Given the description of an element on the screen output the (x, y) to click on. 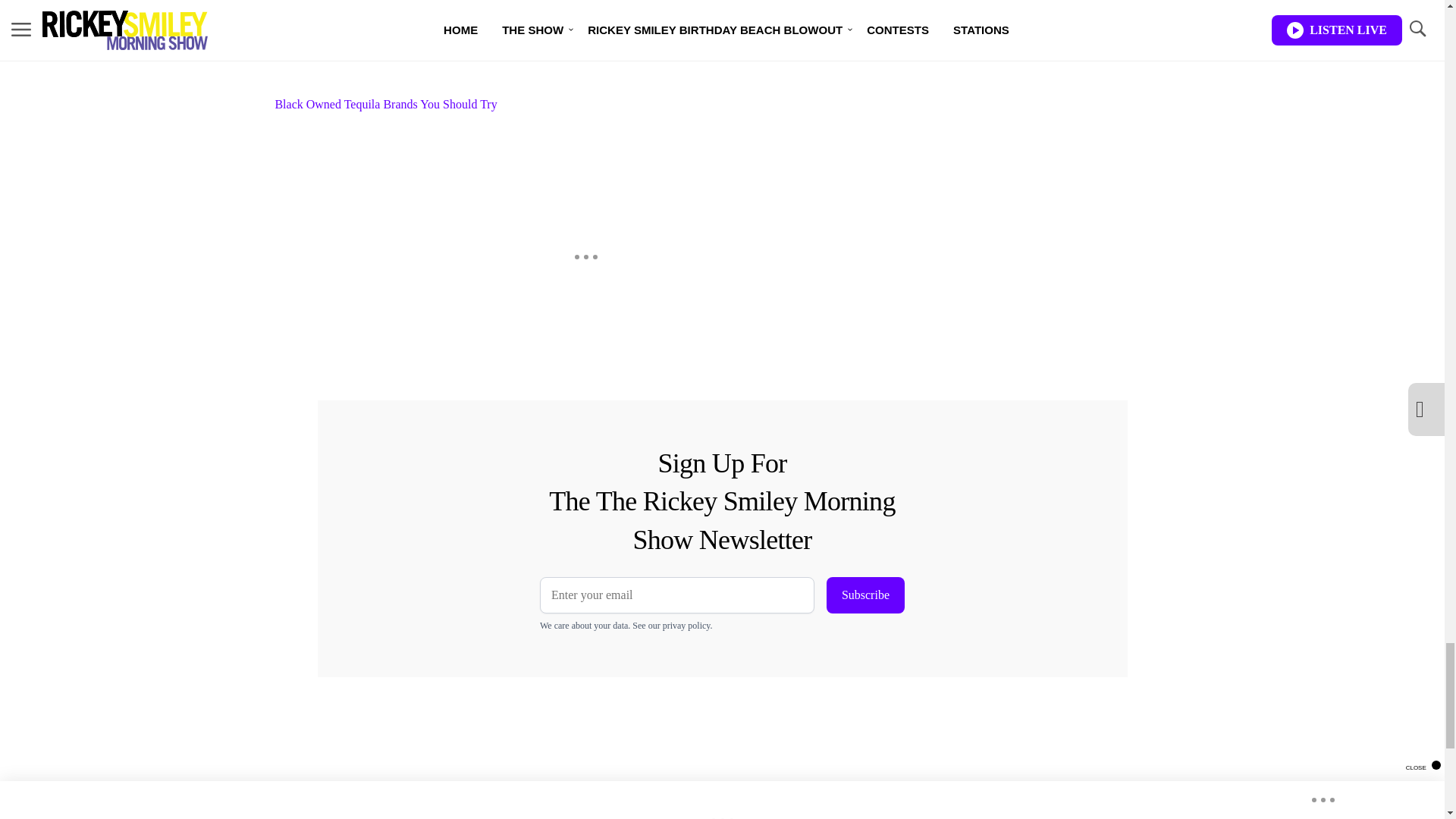
Black Owned Tequila Brands You Should Try (585, 56)
